Given the description of an element on the screen output the (x, y) to click on. 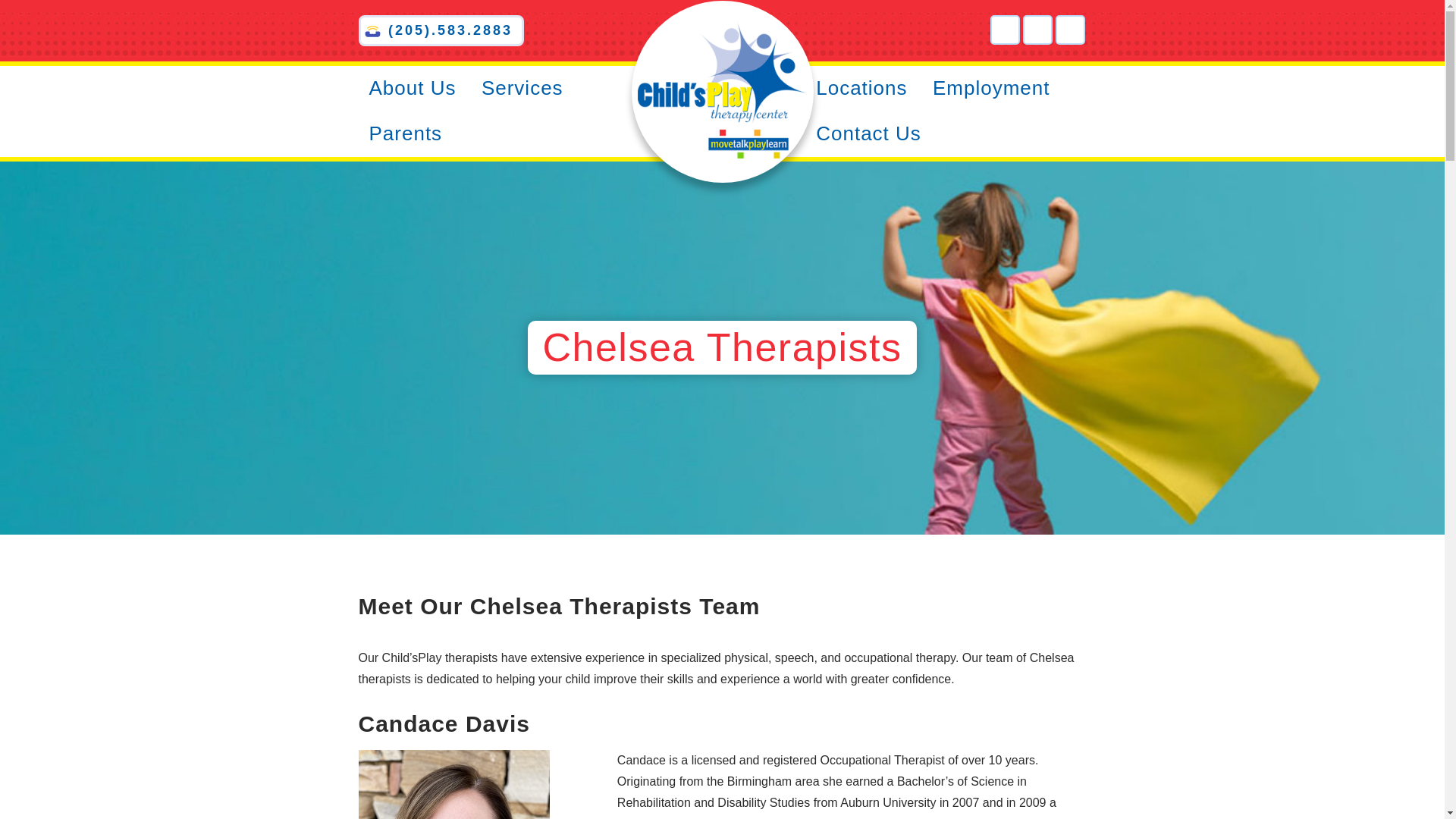
Child's Play Therapy Center (721, 91)
About Us (411, 88)
Services (522, 88)
